Given the description of an element on the screen output the (x, y) to click on. 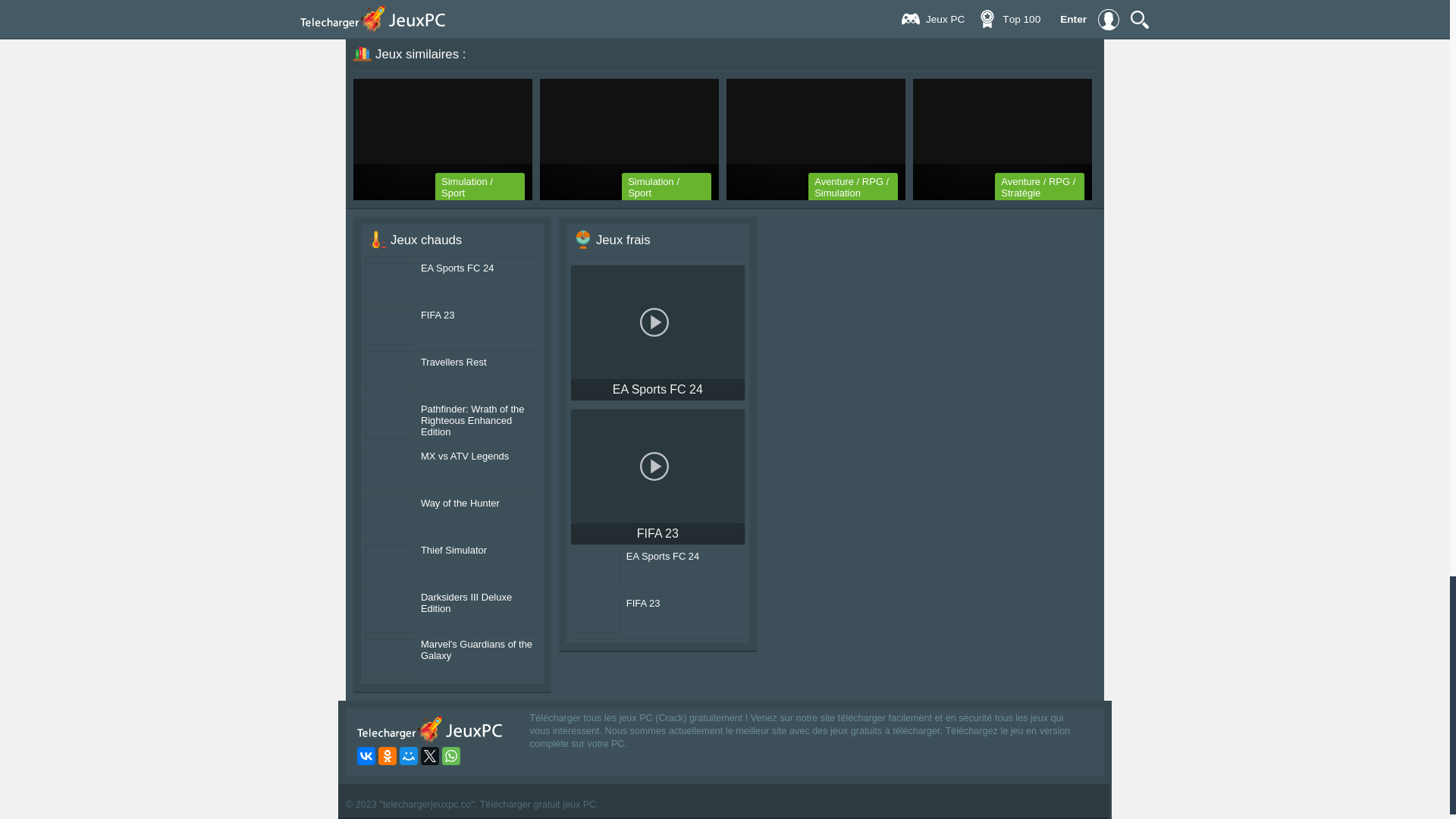
Evernote (546, 2)
Twitter (504, 2)
Blogger (525, 2)
WhatsApp (588, 2)
Viber (567, 2)
